Given the description of an element on the screen output the (x, y) to click on. 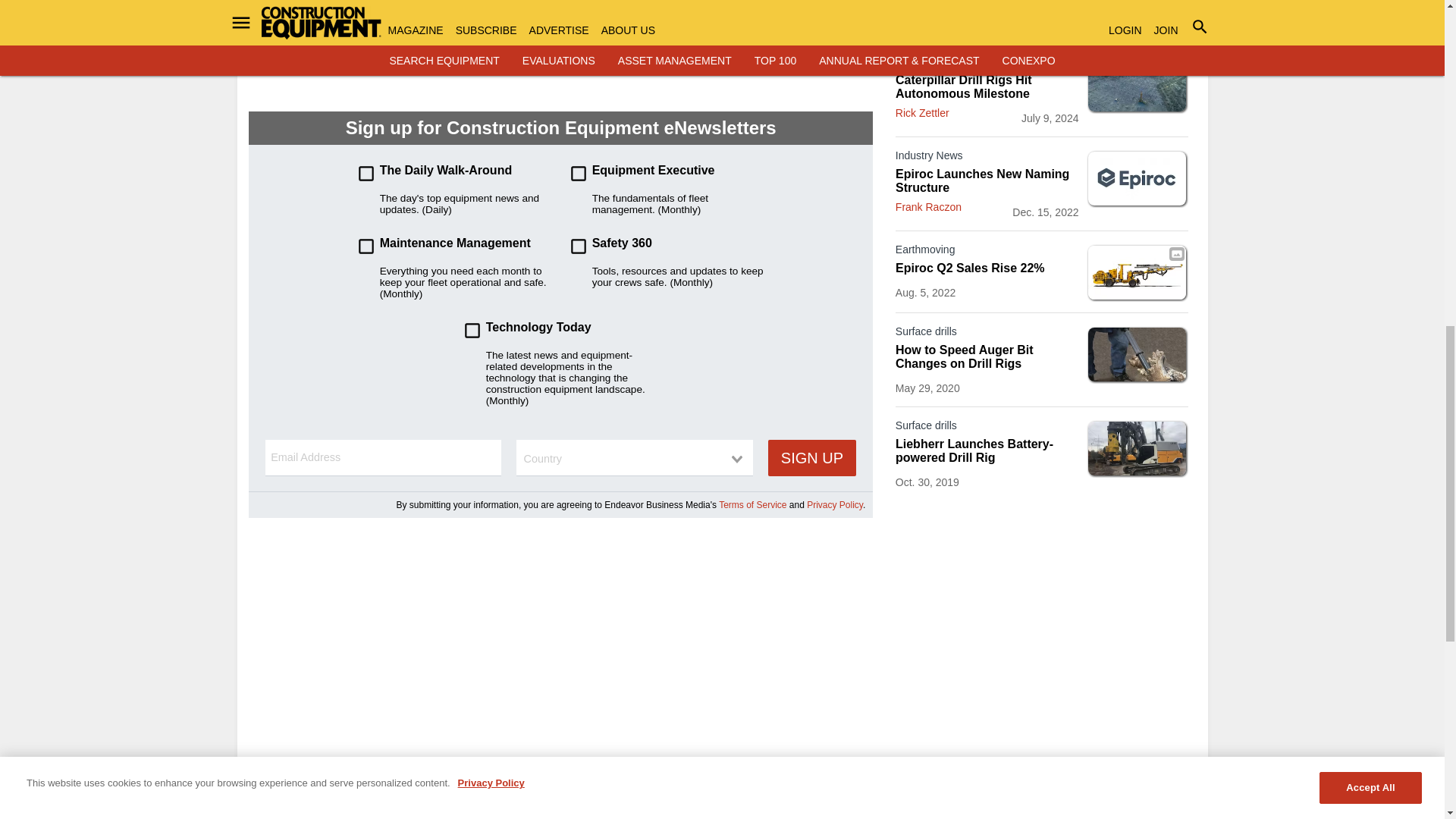
Epiroc Logo (1136, 178)
Tooth-Pull-Auger (1136, 354)
Epiroc Boomer K111 (1136, 272)
